Given the description of an element on the screen output the (x, y) to click on. 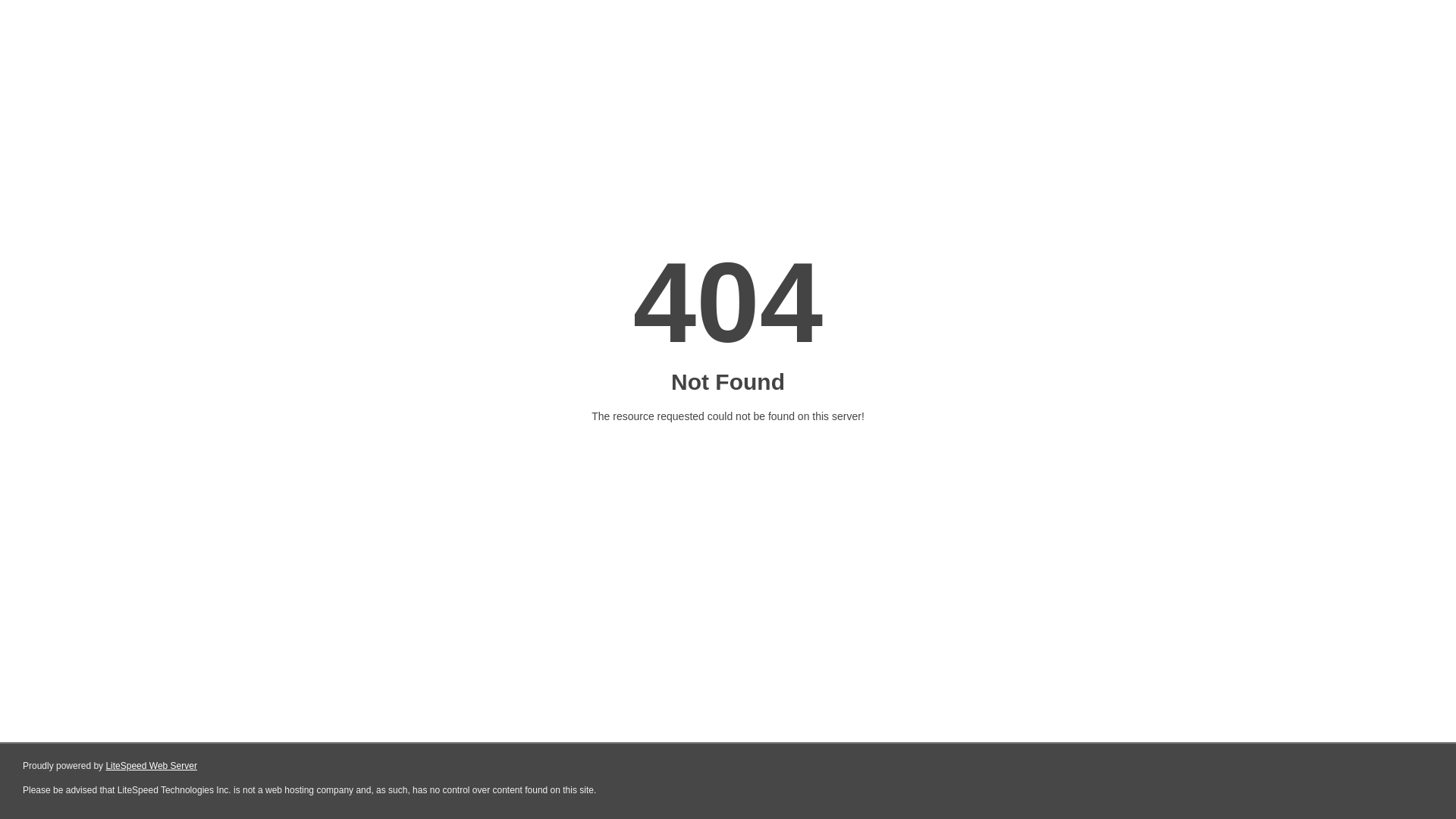
LiteSpeed Web Server Element type: text (151, 765)
